Given the description of an element on the screen output the (x, y) to click on. 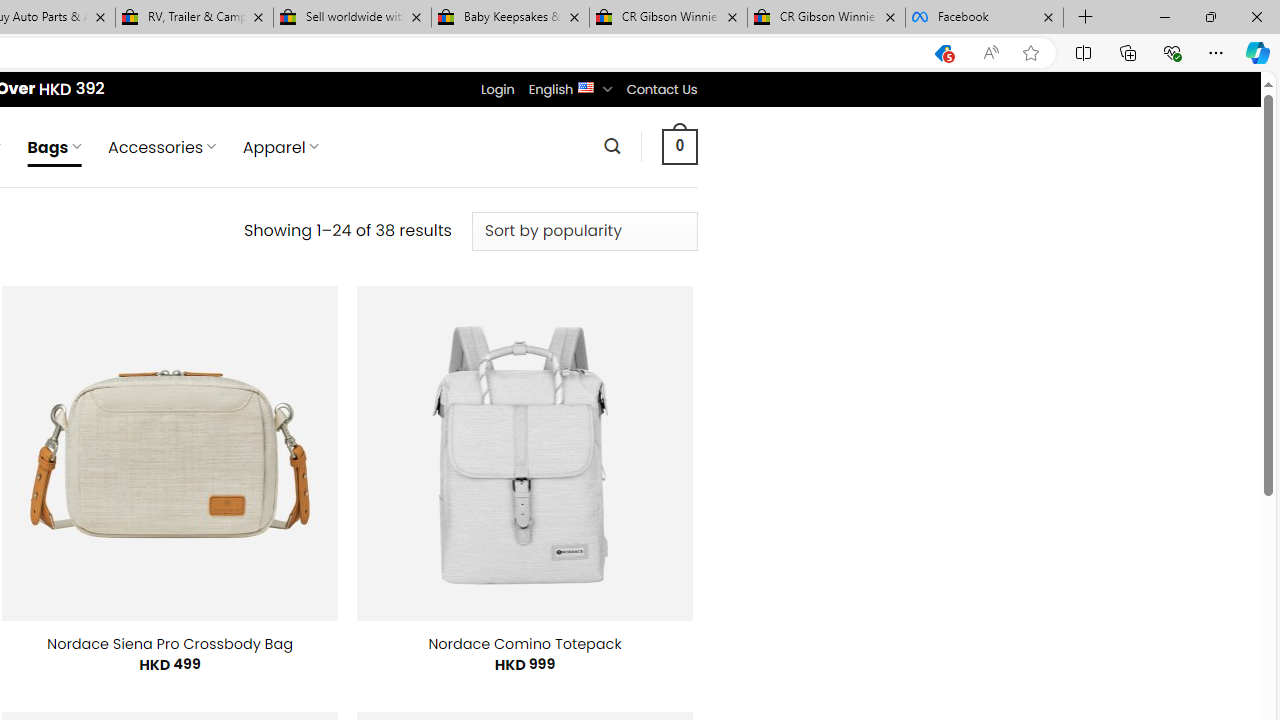
Shop order (584, 231)
